Given the description of an element on the screen output the (x, y) to click on. 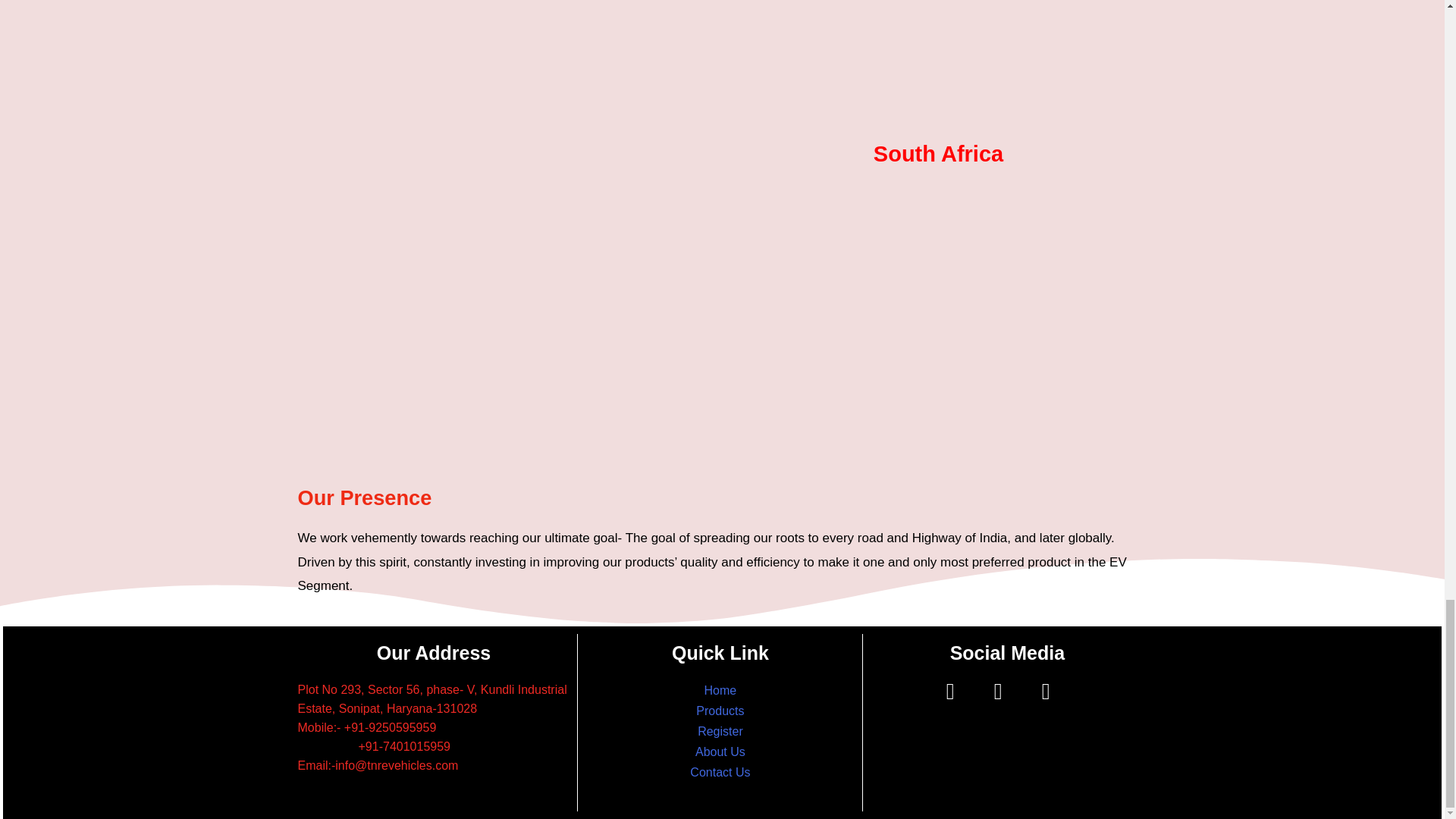
Products (719, 710)
About Us (720, 751)
Home (720, 689)
Contact Us (719, 771)
Register (719, 730)
